Given the description of an element on the screen output the (x, y) to click on. 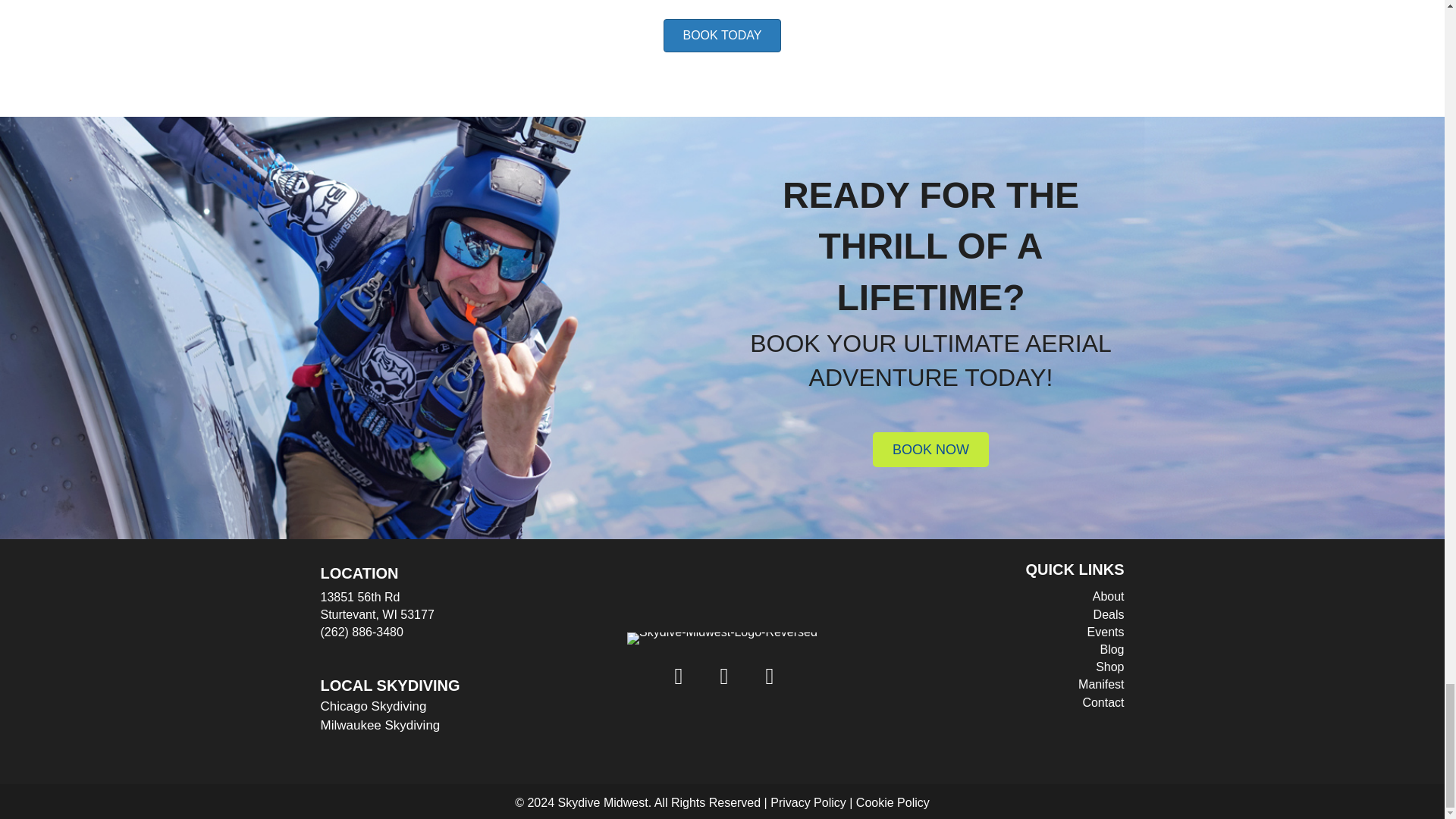
BOOK TODAY (721, 35)
Skydive-Midwest-Logo---Reversed (721, 638)
Local Skydiving (390, 685)
BOOK NOW (930, 449)
